Given the description of an element on the screen output the (x, y) to click on. 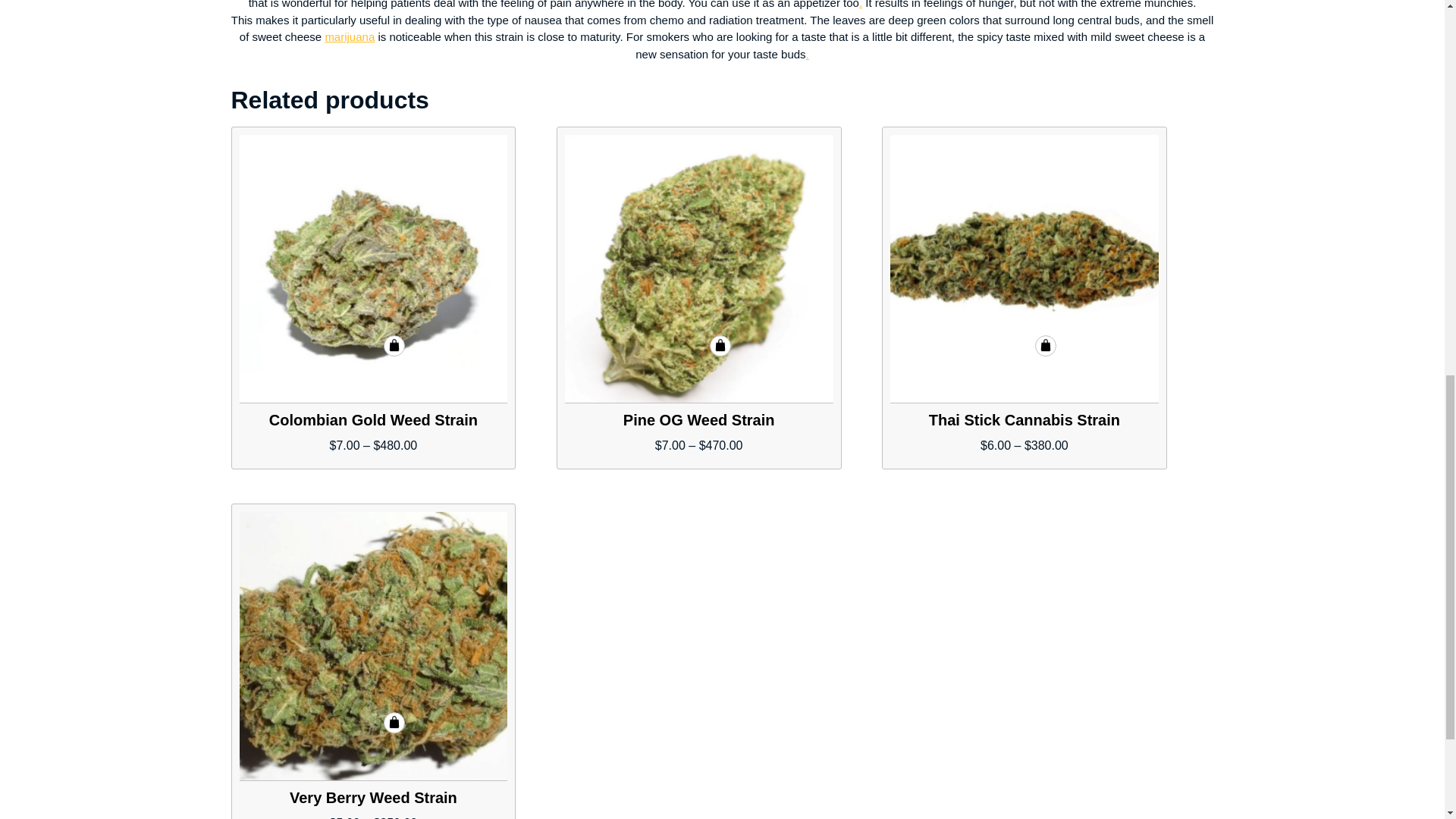
Thai Stick Cannabis Strain (1023, 269)
Pine OG Weed Strain (698, 269)
Very Berry Weed Strain (374, 646)
Colombian Gold Weed Strain (374, 269)
